Given the description of an element on the screen output the (x, y) to click on. 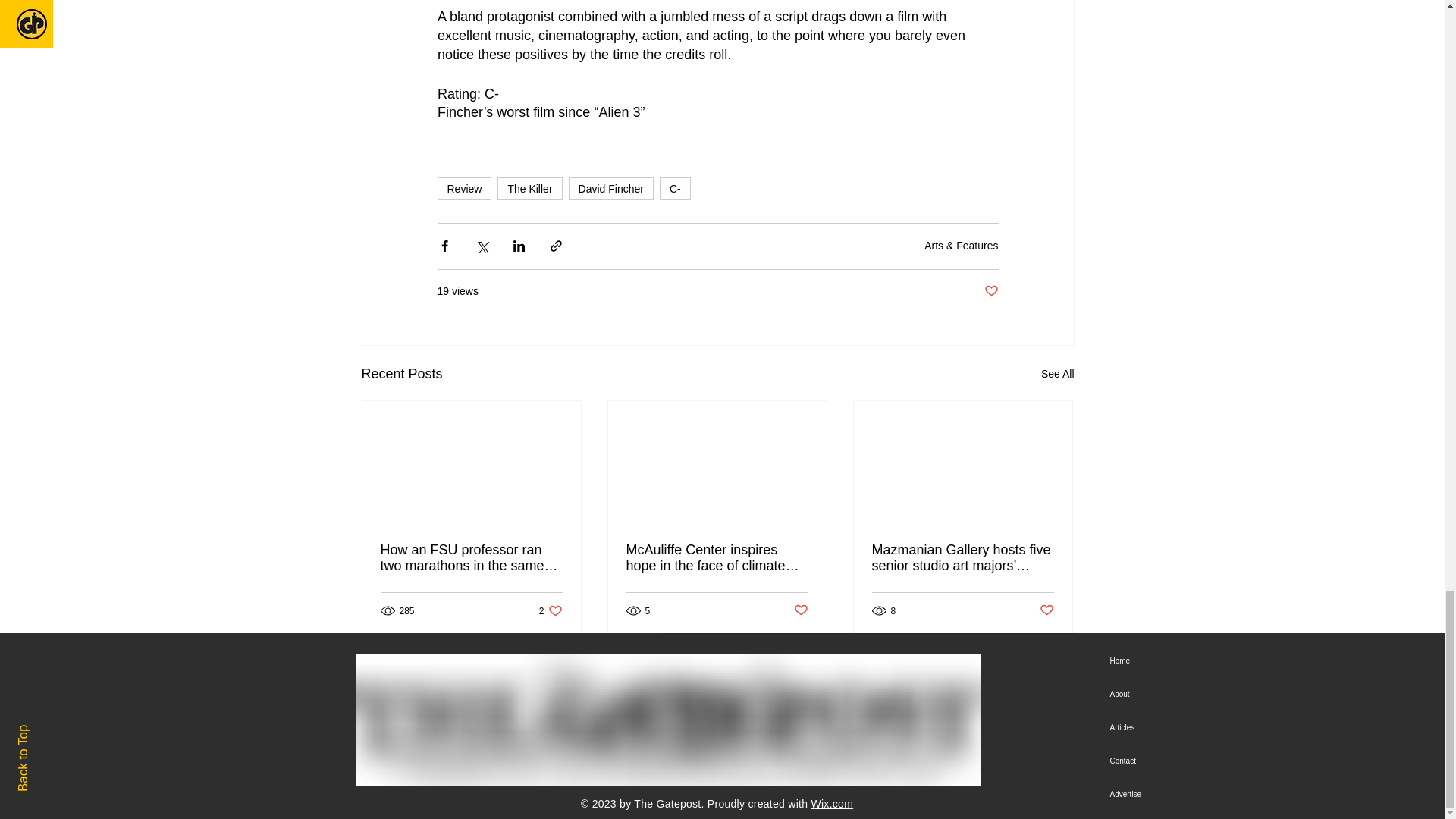
How an FSU professor ran two marathons in the same week (471, 558)
Post not marked as liked (991, 291)
Post not marked as liked (800, 610)
McAuliffe Center inspires hope in the face of climate change (717, 558)
Post not marked as liked (1045, 610)
See All (1057, 373)
Review (464, 188)
The Killer (529, 188)
David Fincher (550, 610)
